Given the description of an element on the screen output the (x, y) to click on. 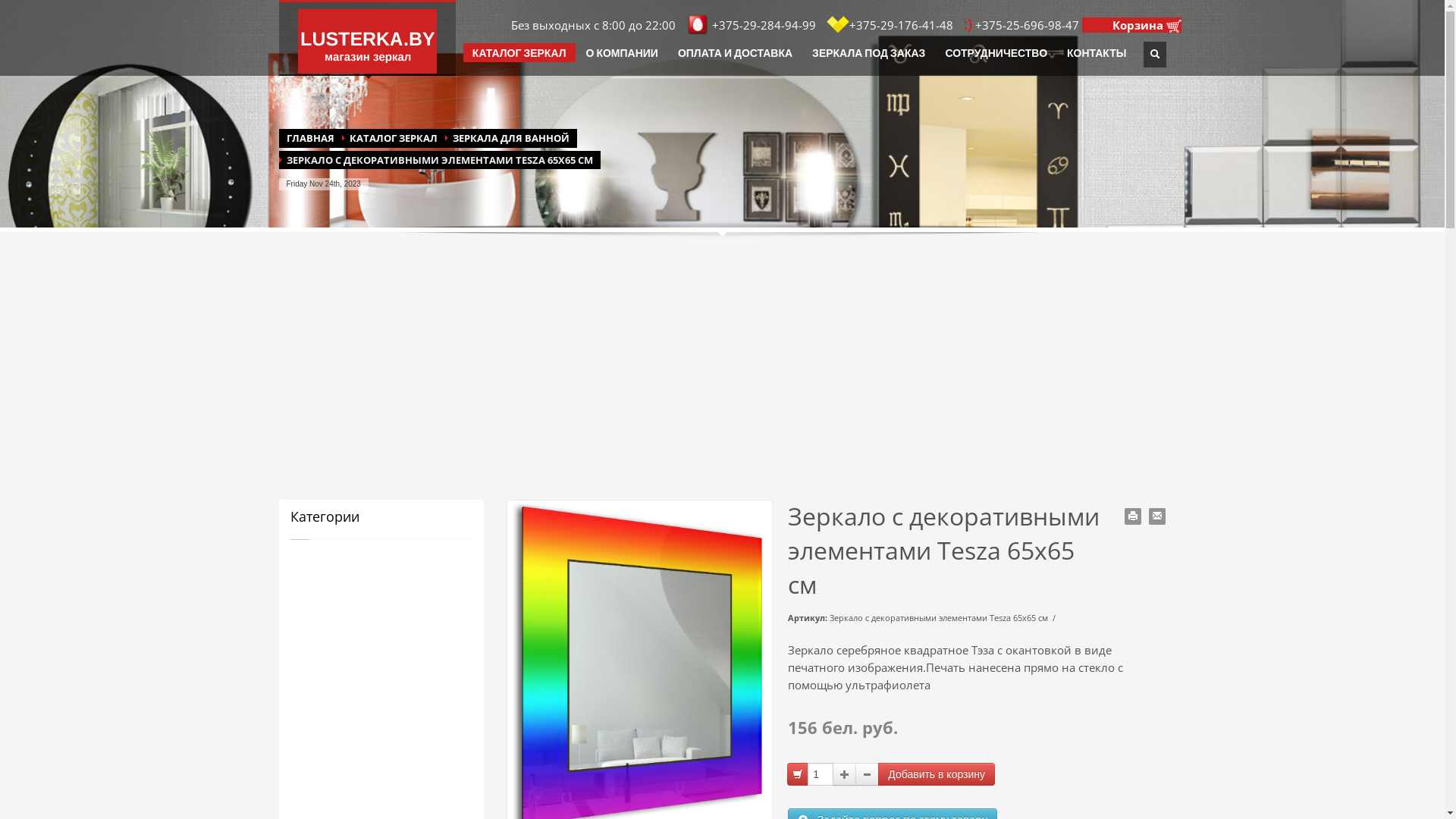
Advertisement Element type: hover (722, 375)
